Given the description of an element on the screen output the (x, y) to click on. 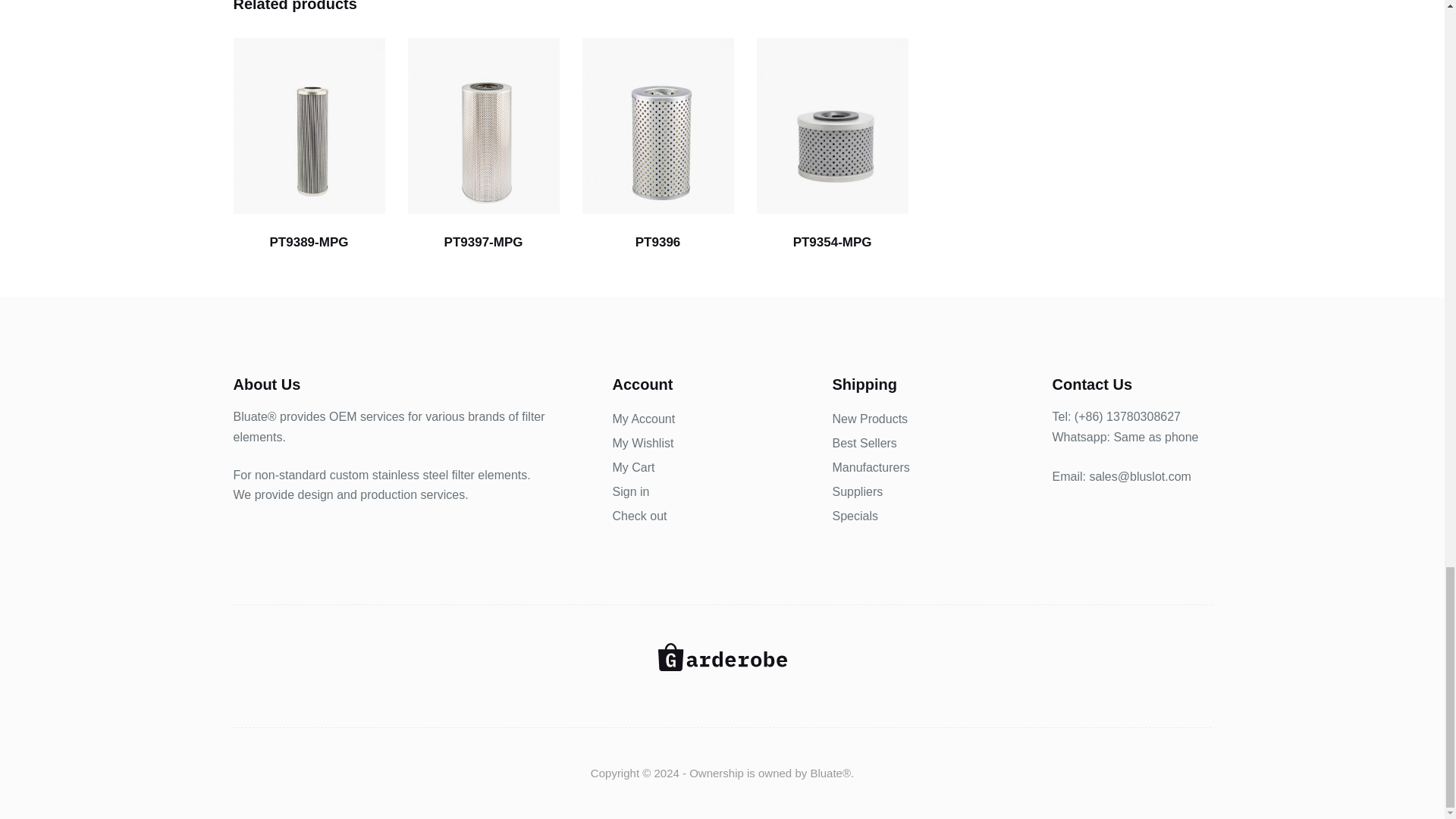
PT9354-MPG (832, 124)
PT9396 (657, 124)
P718-5 (483, 124)
PT9389-MPG (308, 124)
